Given the description of an element on the screen output the (x, y) to click on. 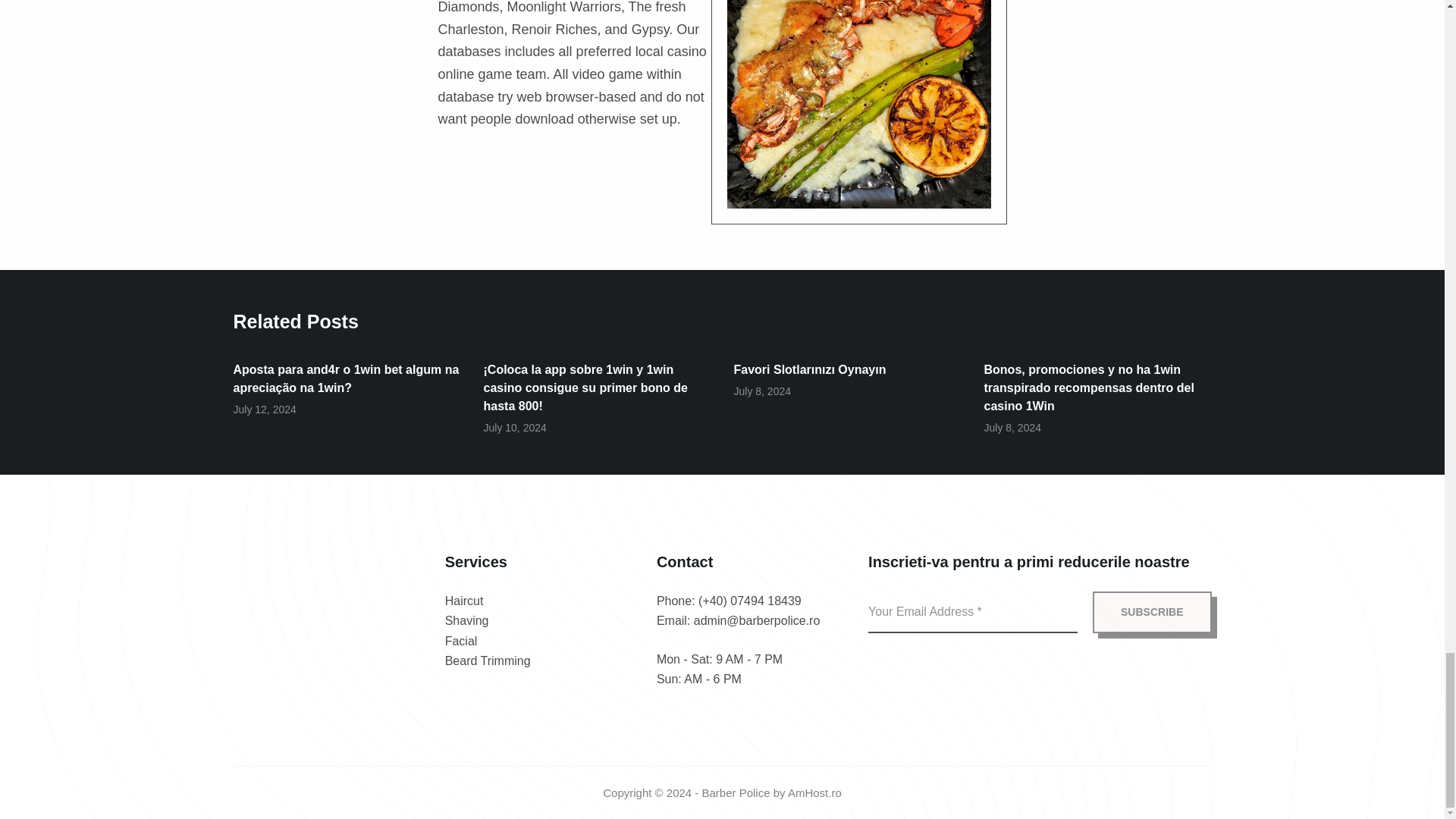
SUBSCRIBE (1152, 612)
AmHost.ro (814, 792)
Facial (461, 640)
Shaving (467, 620)
Beard Trimming (488, 660)
Haircut (464, 600)
